Given the description of an element on the screen output the (x, y) to click on. 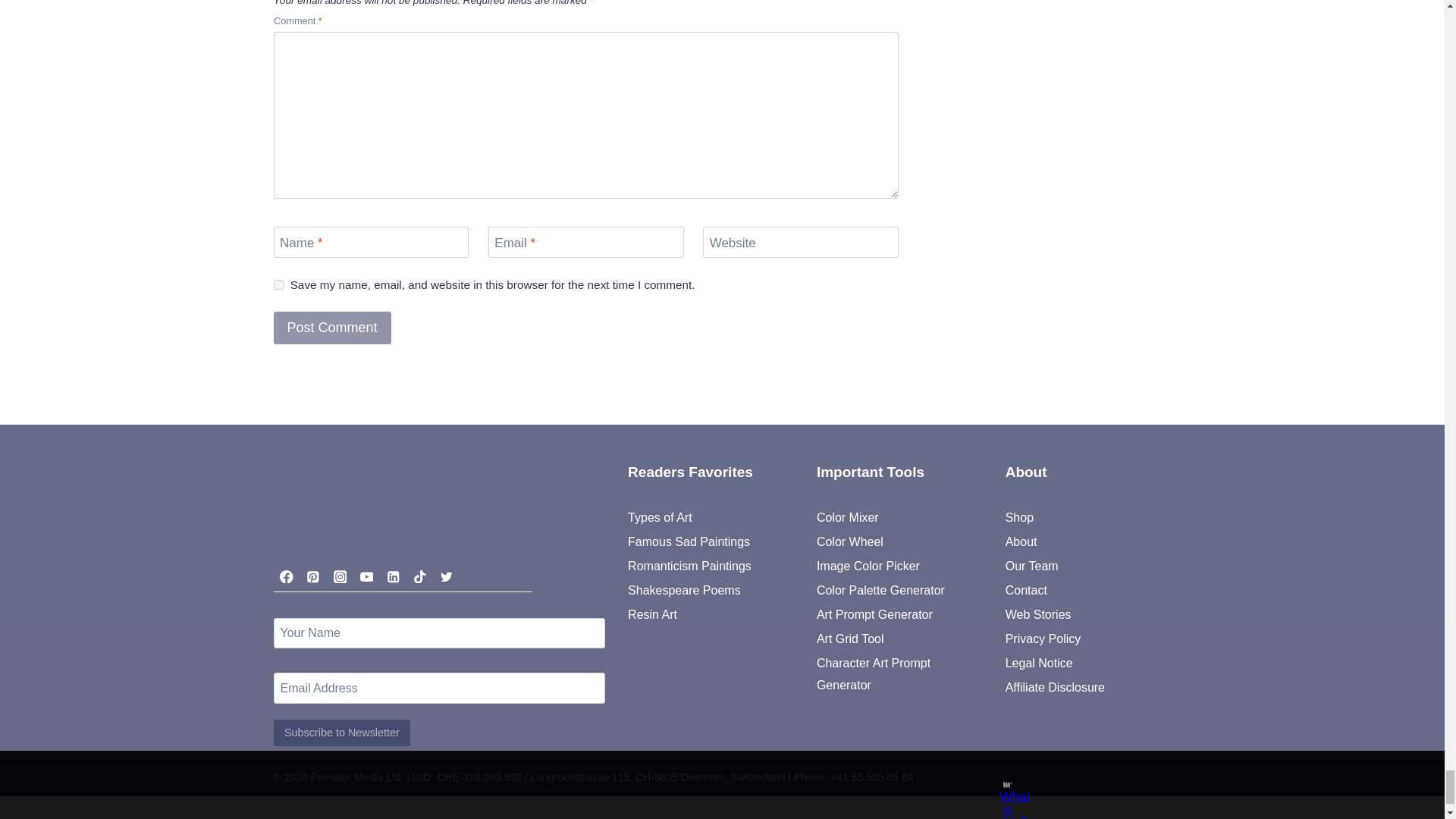
yes (277, 284)
Post Comment (331, 327)
